Given the description of an element on the screen output the (x, y) to click on. 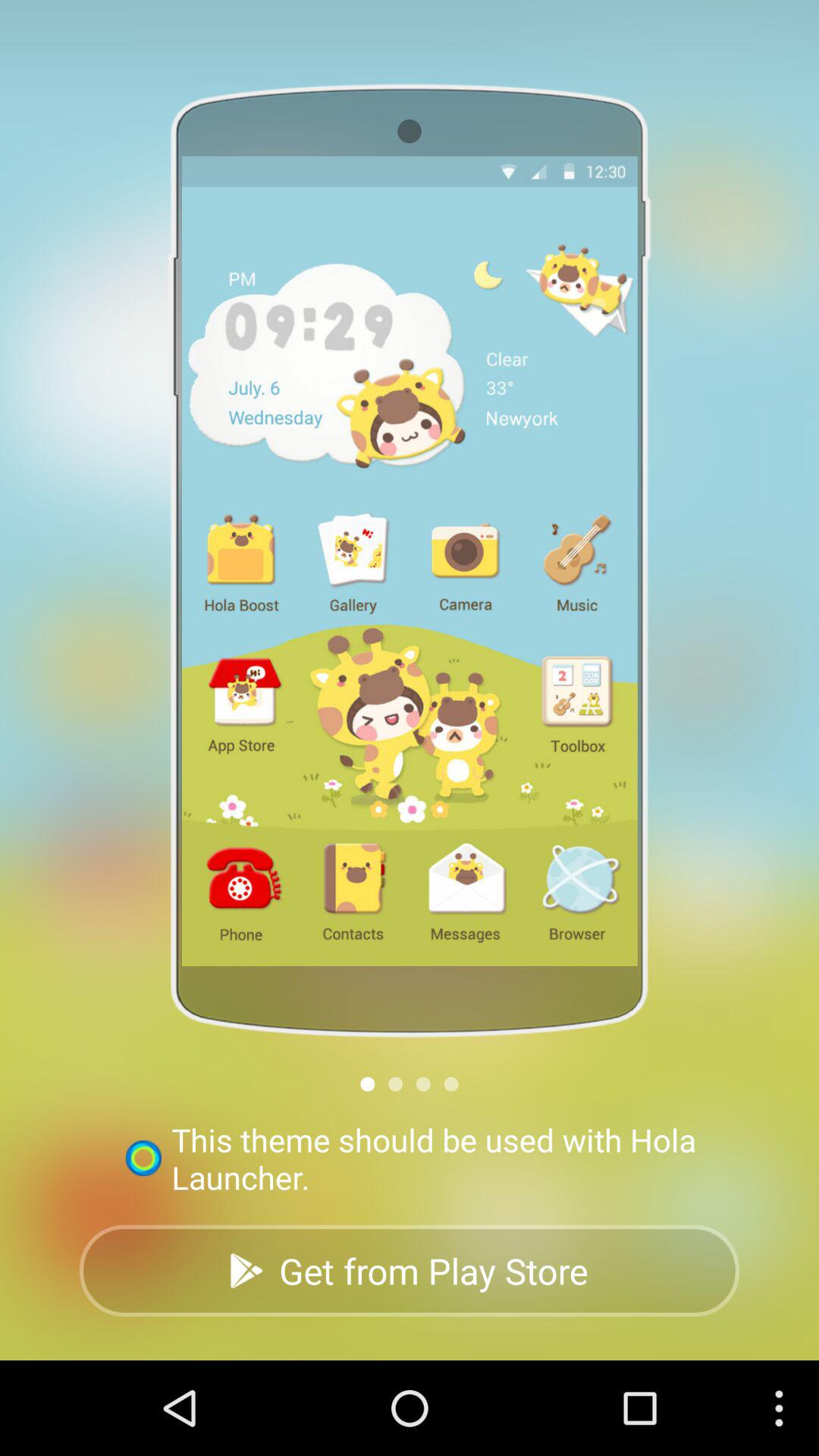
go to next page (395, 1084)
